Given the description of an element on the screen output the (x, y) to click on. 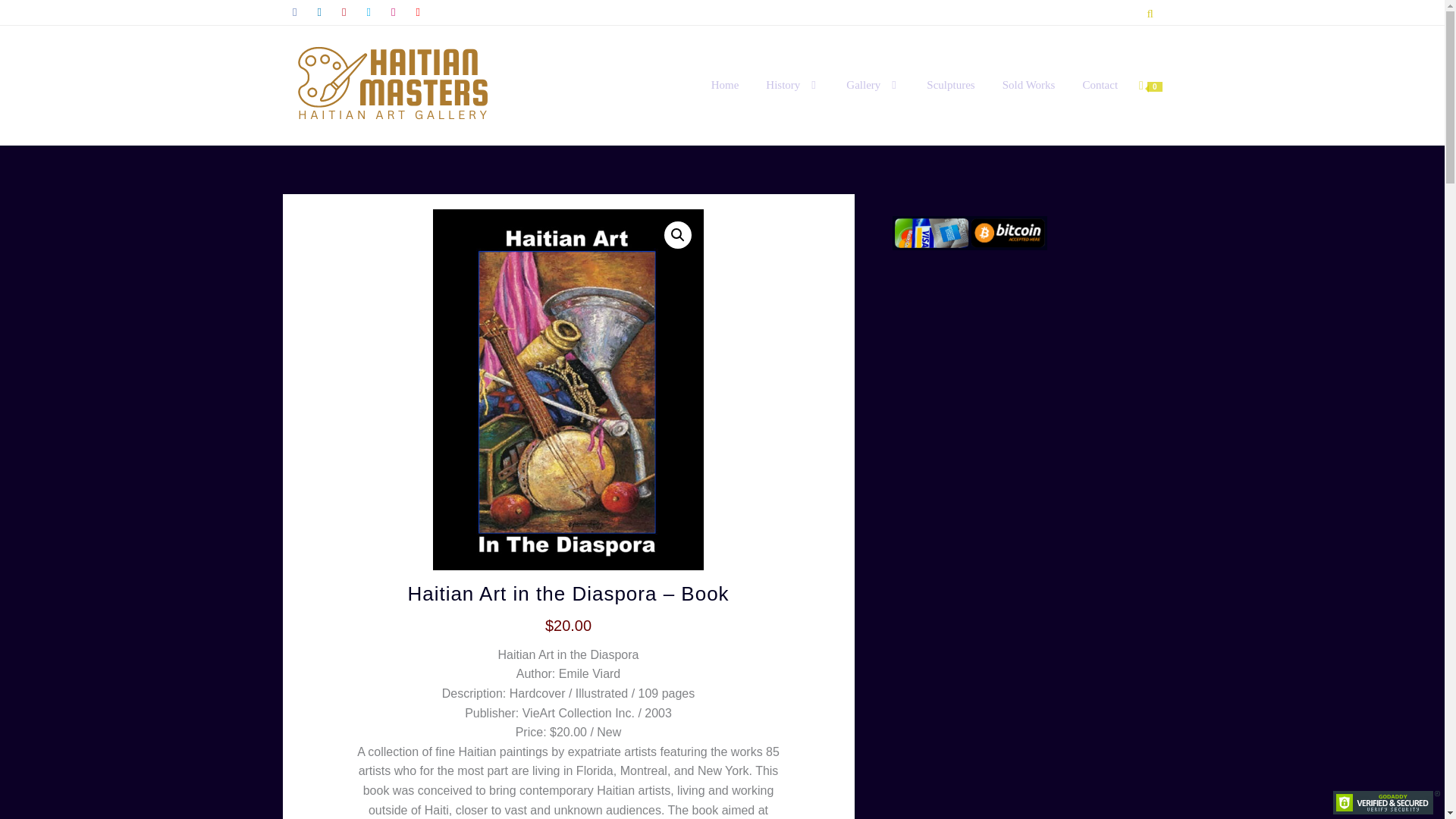
Sculptures (950, 84)
Gallery (872, 84)
History (792, 84)
Home (724, 84)
Sold Works (1028, 84)
0 (1149, 84)
Contact (1099, 84)
